Given the description of an element on the screen output the (x, y) to click on. 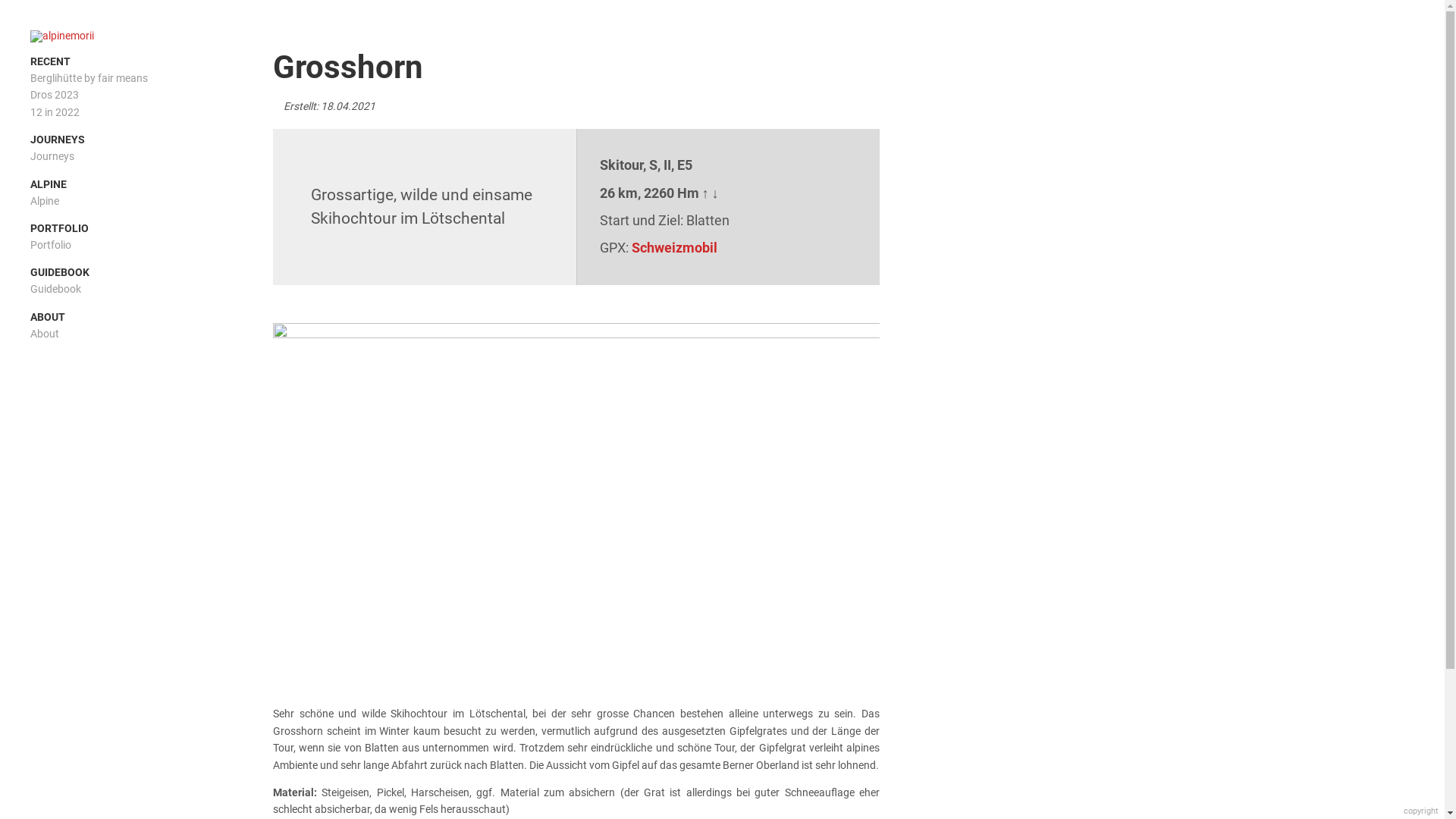
Dros 2023 Element type: text (54, 94)
Guidebook Element type: text (55, 288)
Journeys Element type: text (52, 156)
alpinemorii Element type: hover (106, 36)
Portfolio Element type: text (50, 244)
Schweizmobil Element type: text (673, 247)
12 in 2022 Element type: text (54, 112)
Alpine Element type: text (44, 200)
About Element type: text (44, 333)
